Given the description of an element on the screen output the (x, y) to click on. 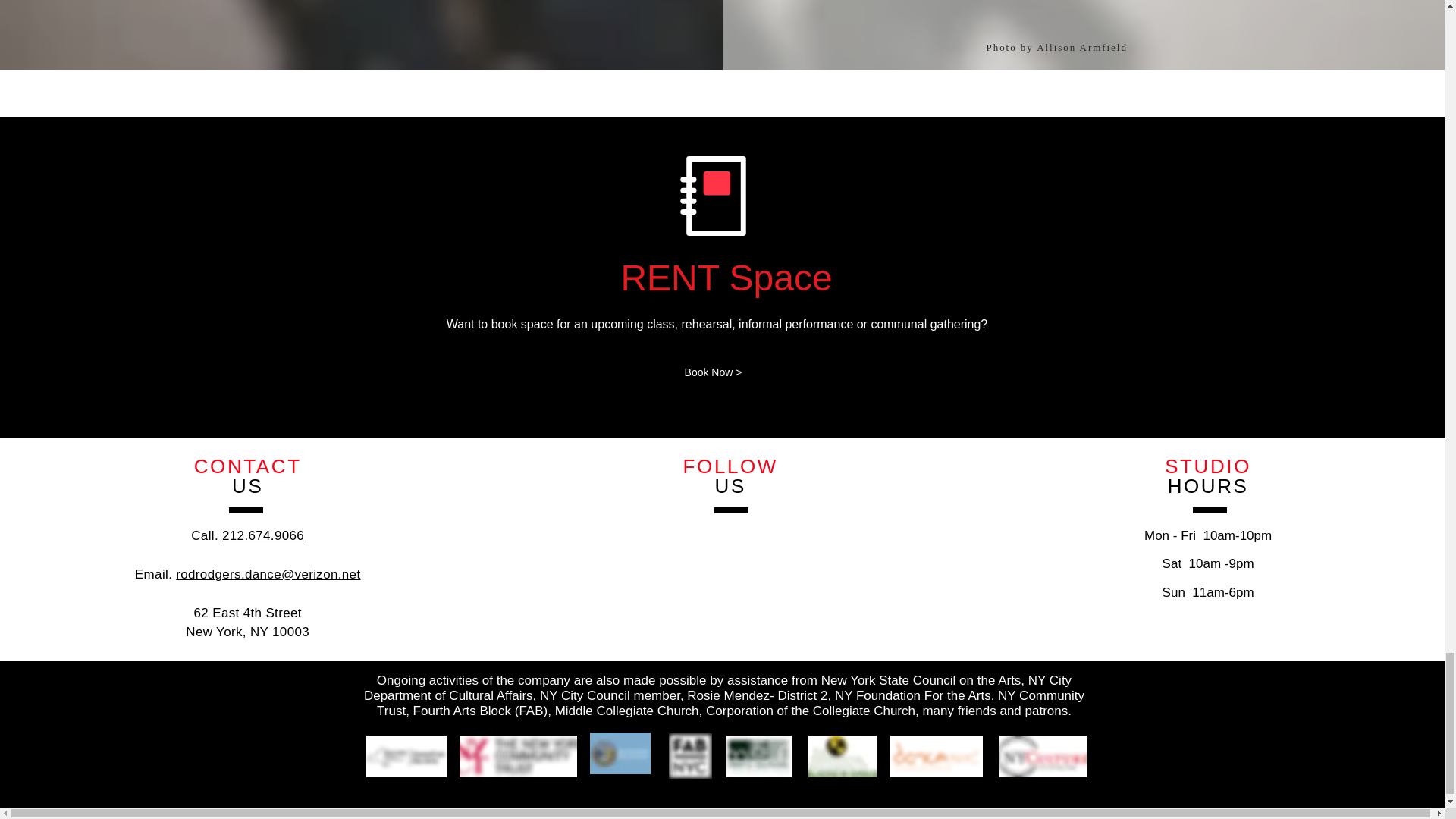
NYSCA Logo.png (405, 756)
Mertz Gilmore Logo.jpg (759, 756)
IABDA logo.png (842, 756)
